Given the description of an element on the screen output the (x, y) to click on. 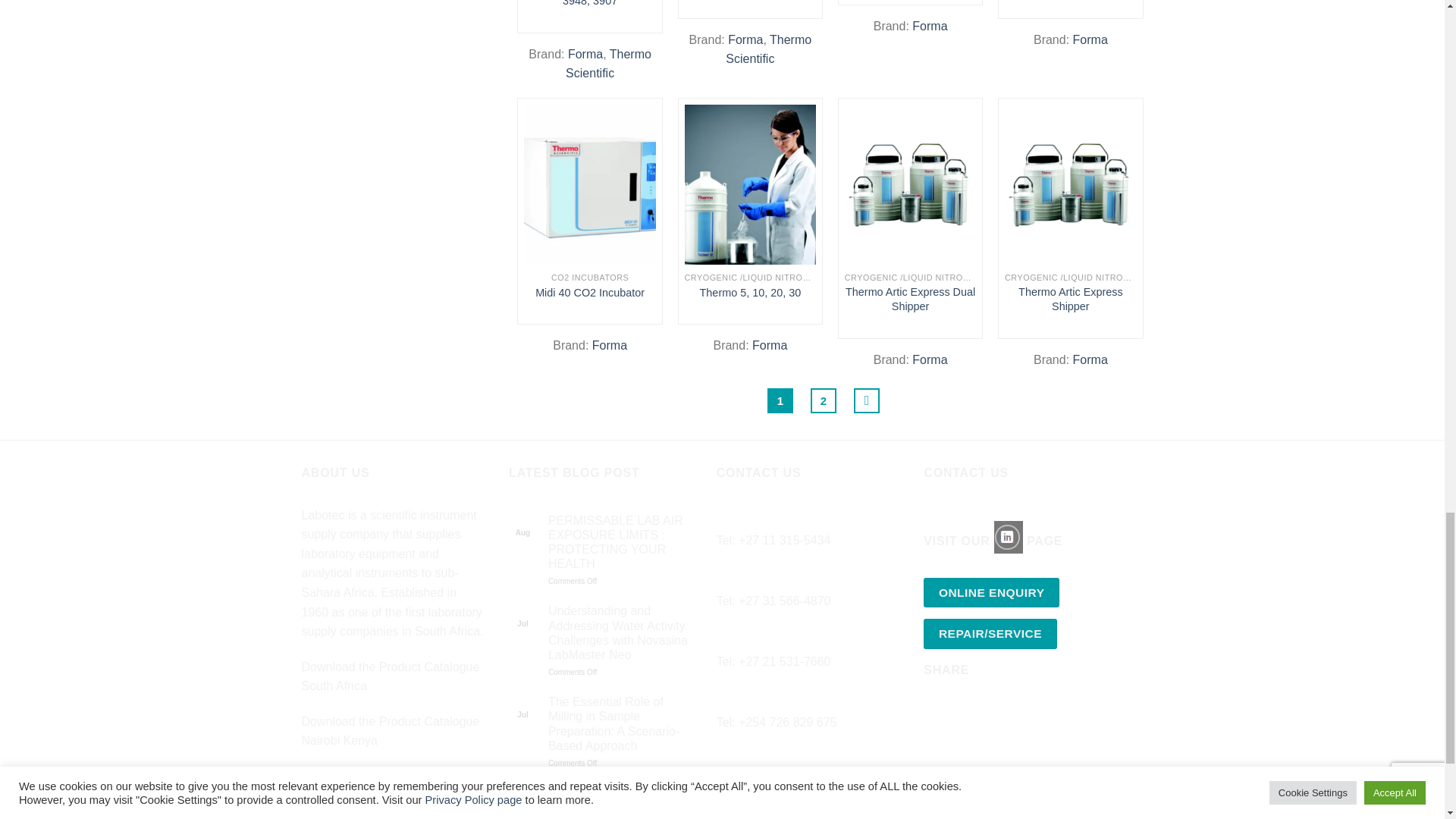
Share on LinkedIn (1019, 714)
Share on Twitter (964, 714)
PERMISSABLE LAB AIR EXPOSURE LIMITS : PROTECTING YOUR HEALTH (621, 542)
How Are Centrifuges Used in Clinical Research? (621, 799)
Share on Facebook (937, 714)
Email to a Friend (991, 714)
